Given the description of an element on the screen output the (x, y) to click on. 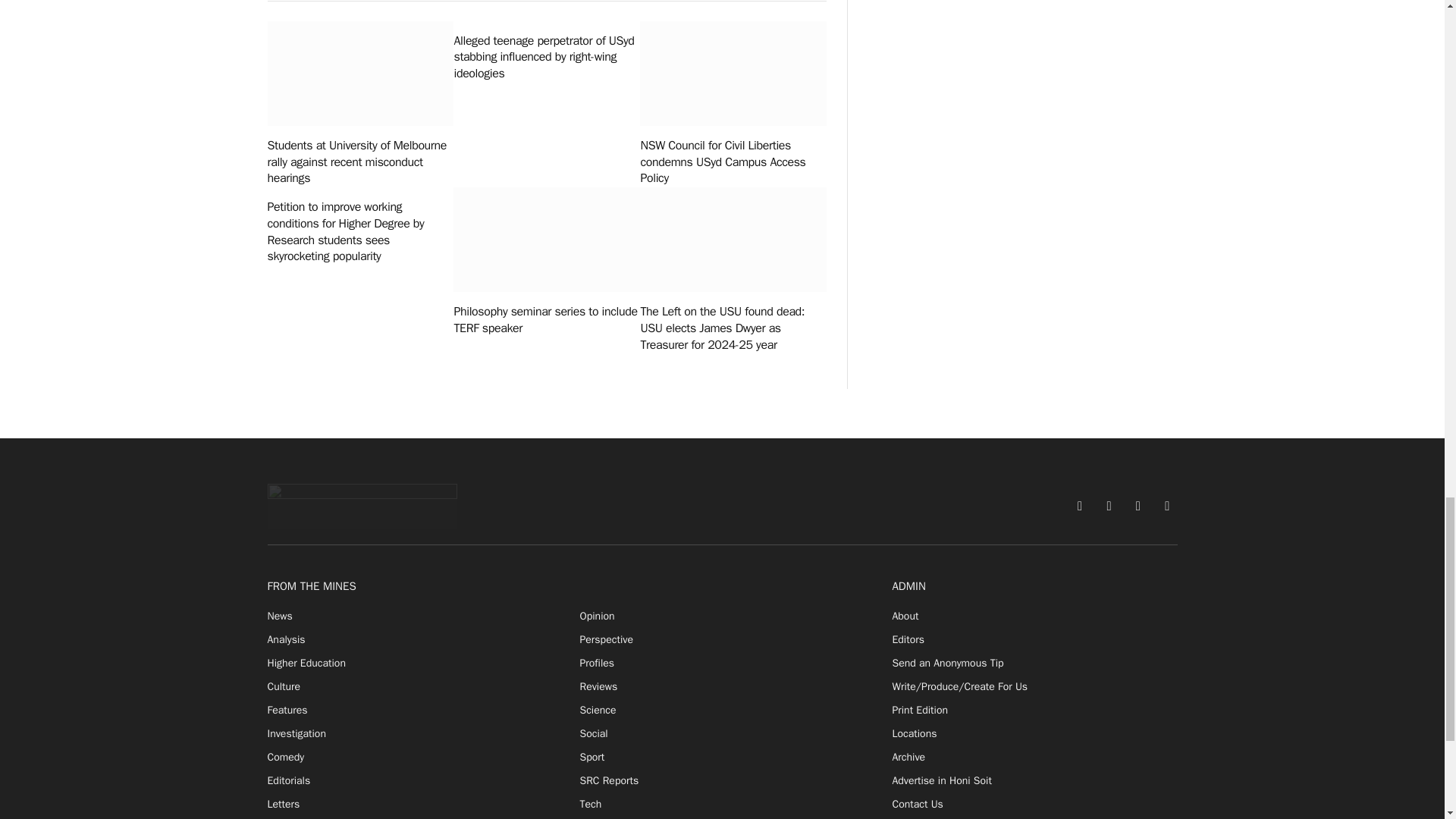
Philosophy seminar series to include TERF speaker (546, 239)
